Given the description of an element on the screen output the (x, y) to click on. 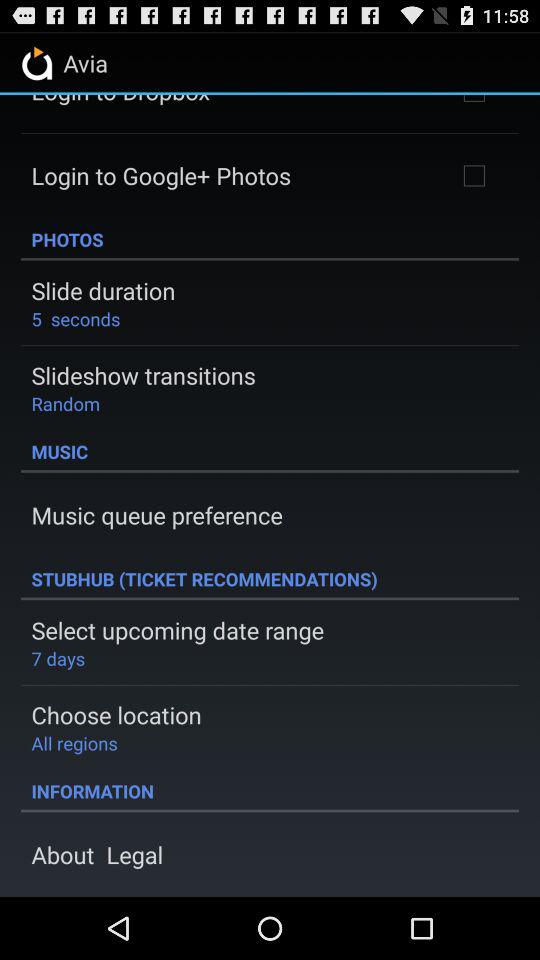
select the music queue preference app (156, 515)
